Given the description of an element on the screen output the (x, y) to click on. 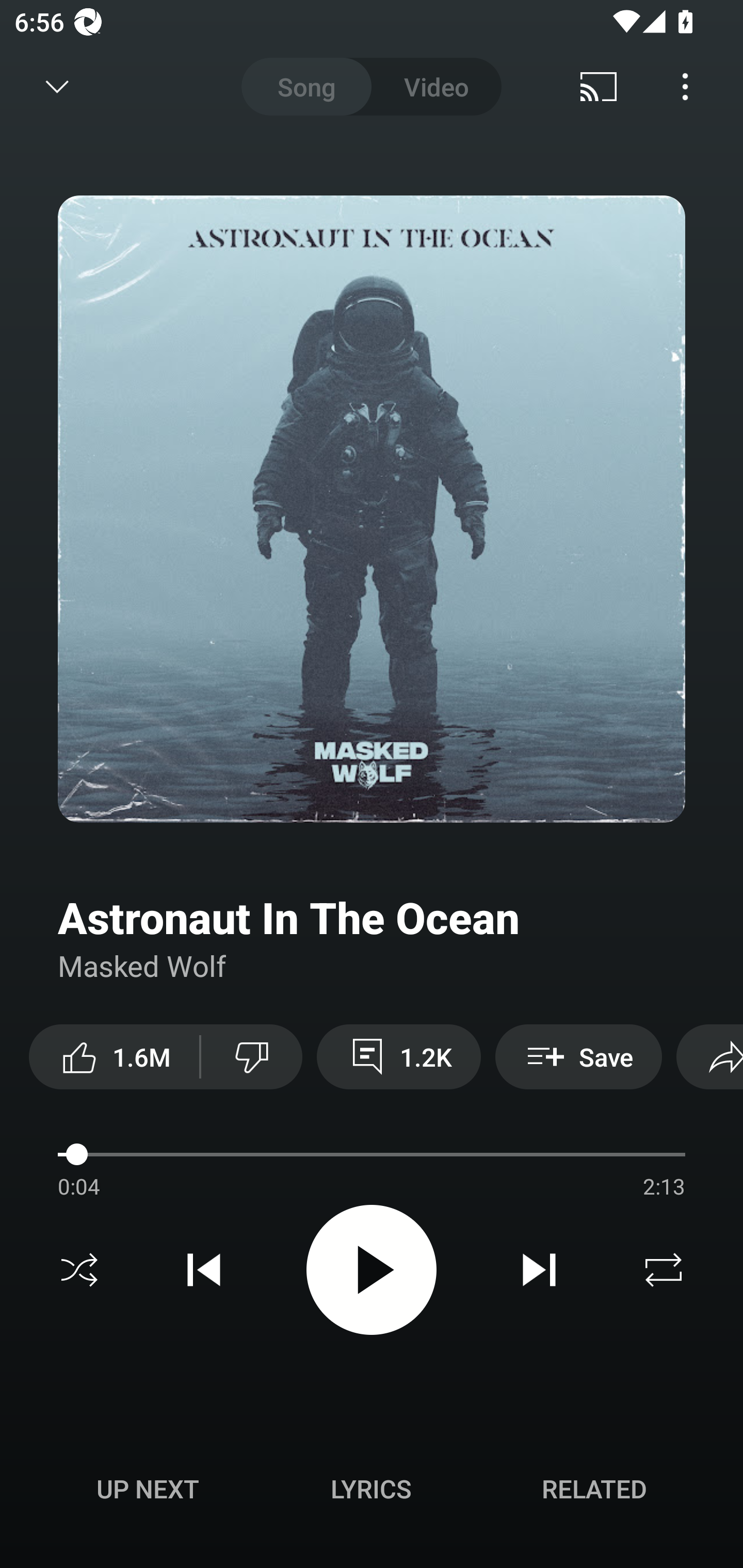
Minimize (57, 86)
Cast. Disconnected (598, 86)
Menu (684, 86)
Dislike (251, 1056)
1.2K View 1,254 comments (398, 1056)
Save Save to playlist (578, 1056)
Share (709, 1056)
Play video (371, 1269)
Shuffle off (79, 1269)
Previous track (203, 1269)
Next track (538, 1269)
Repeat off (663, 1269)
Up next UP NEXT Lyrics LYRICS Related RELATED (371, 1491)
Lyrics LYRICS (370, 1488)
Related RELATED (594, 1488)
